Given the description of an element on the screen output the (x, y) to click on. 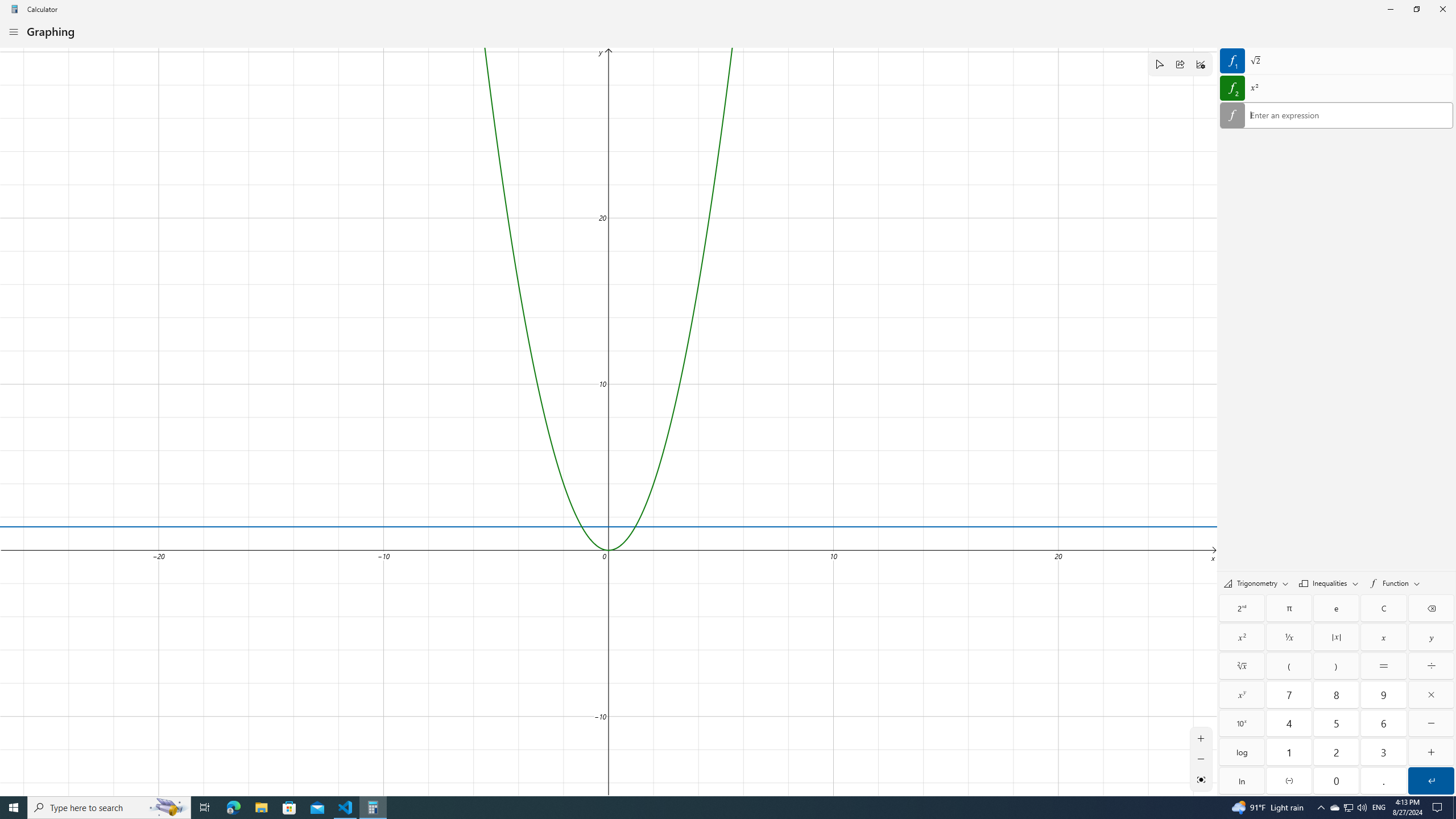
Open Navigation (13, 31)
Restore Calculator (1416, 9)
Open the context menu for available actions (1348, 115)
Zoom in (1200, 738)
Hide equation 1 (1232, 60)
Trigonometry (1256, 582)
Function input (1336, 115)
Log (1241, 751)
Ten to the exponent (1241, 723)
Six (1382, 723)
Seven (1288, 694)
Inverse function (1241, 608)
Graph view (1200, 779)
